Given the description of an element on the screen output the (x, y) to click on. 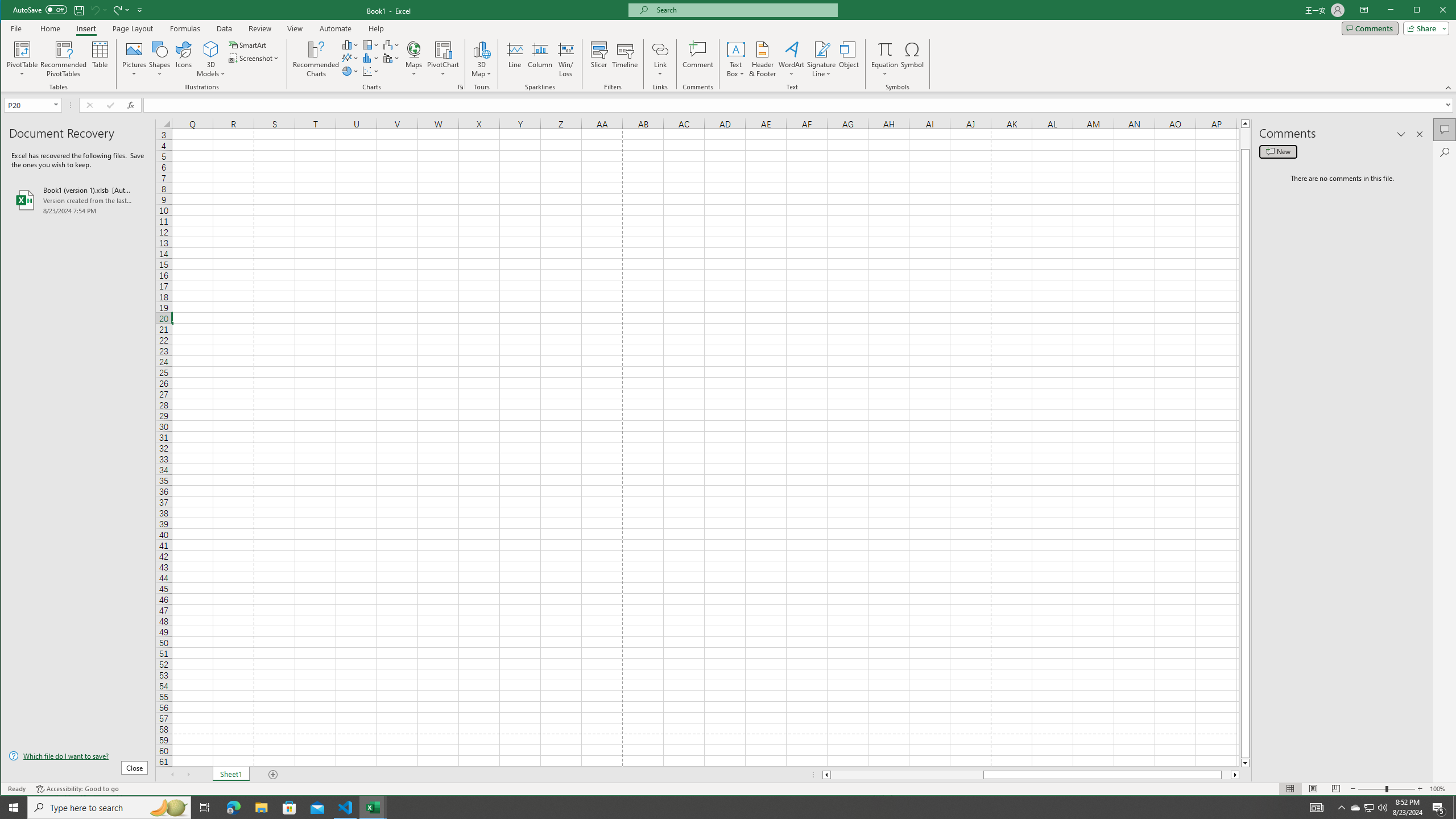
Insert Scatter (X, Y) or Bubble Chart (371, 70)
Page left (906, 774)
Slicer... (598, 59)
New comment (1278, 151)
Class: MsoCommandBar (728, 45)
Symbol... (912, 59)
Timeline (625, 59)
PivotTable (22, 48)
Q2790: 100% (1382, 807)
